Given the description of an element on the screen output the (x, y) to click on. 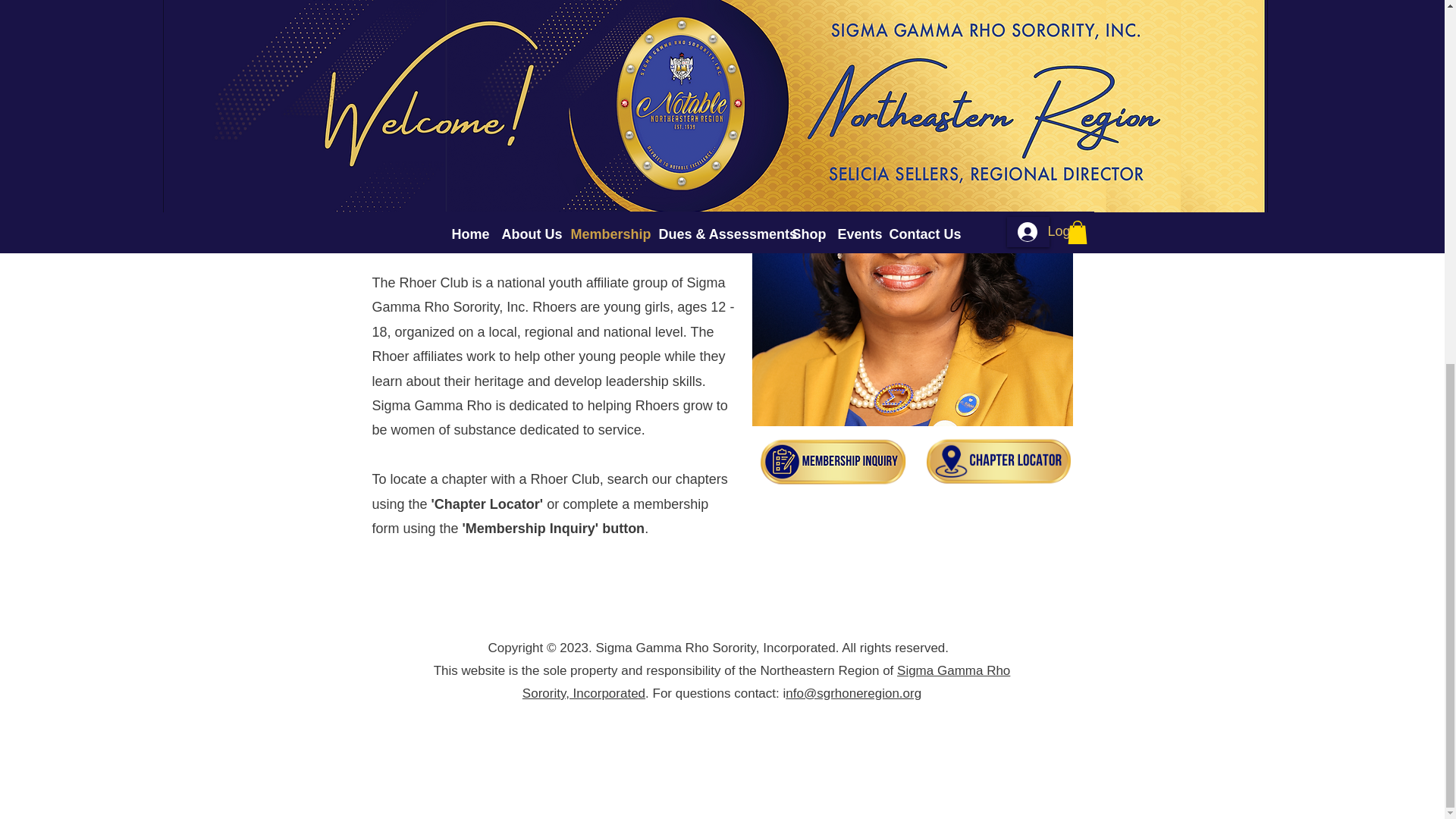
Sigma Gamma Rho Sorority, Incorporated (766, 682)
Membership Inquiry.png (833, 461)
